Given the description of an element on the screen output the (x, y) to click on. 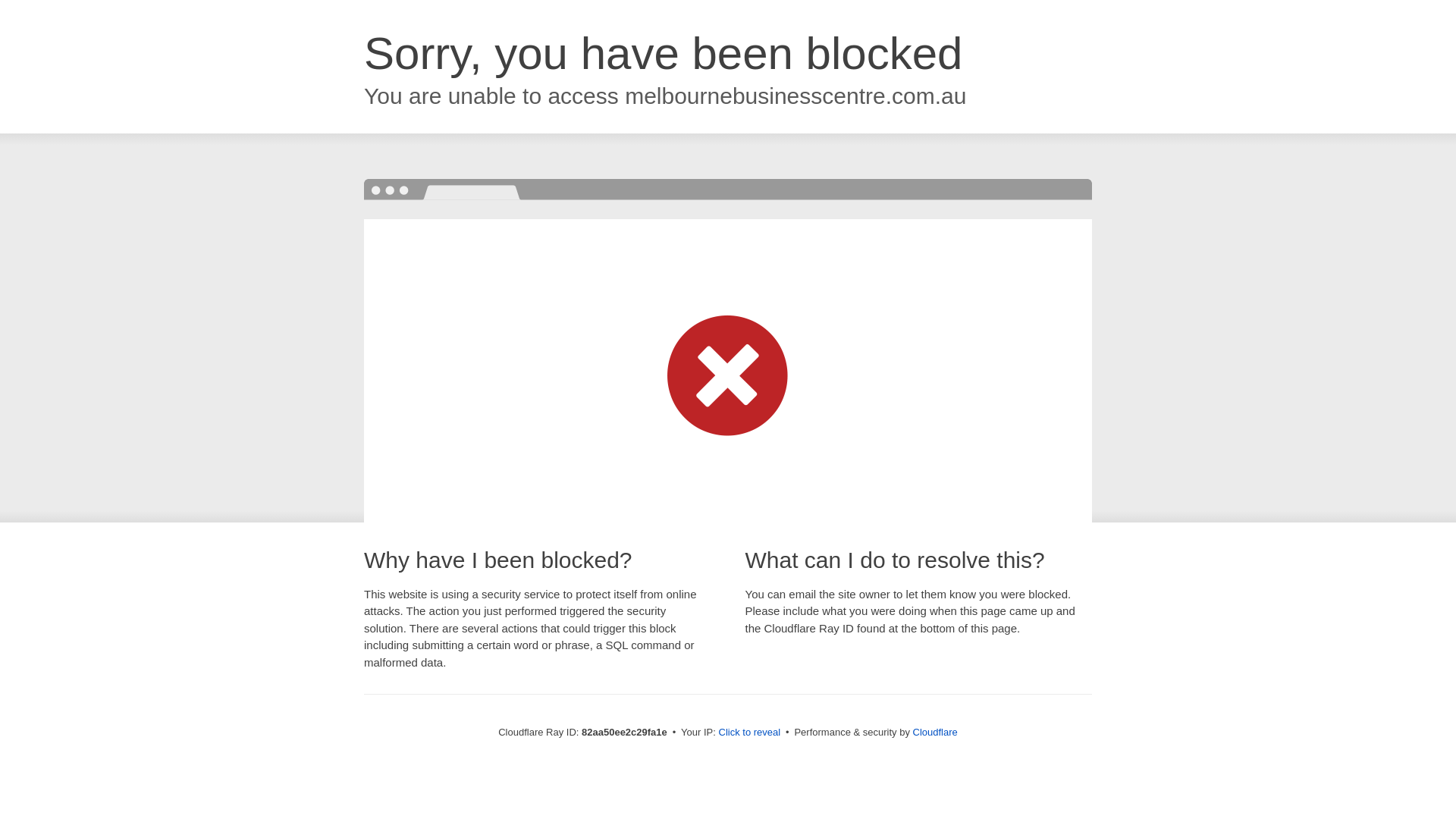
Click to reveal Element type: text (749, 732)
Cloudflare Element type: text (935, 731)
